Given the description of an element on the screen output the (x, y) to click on. 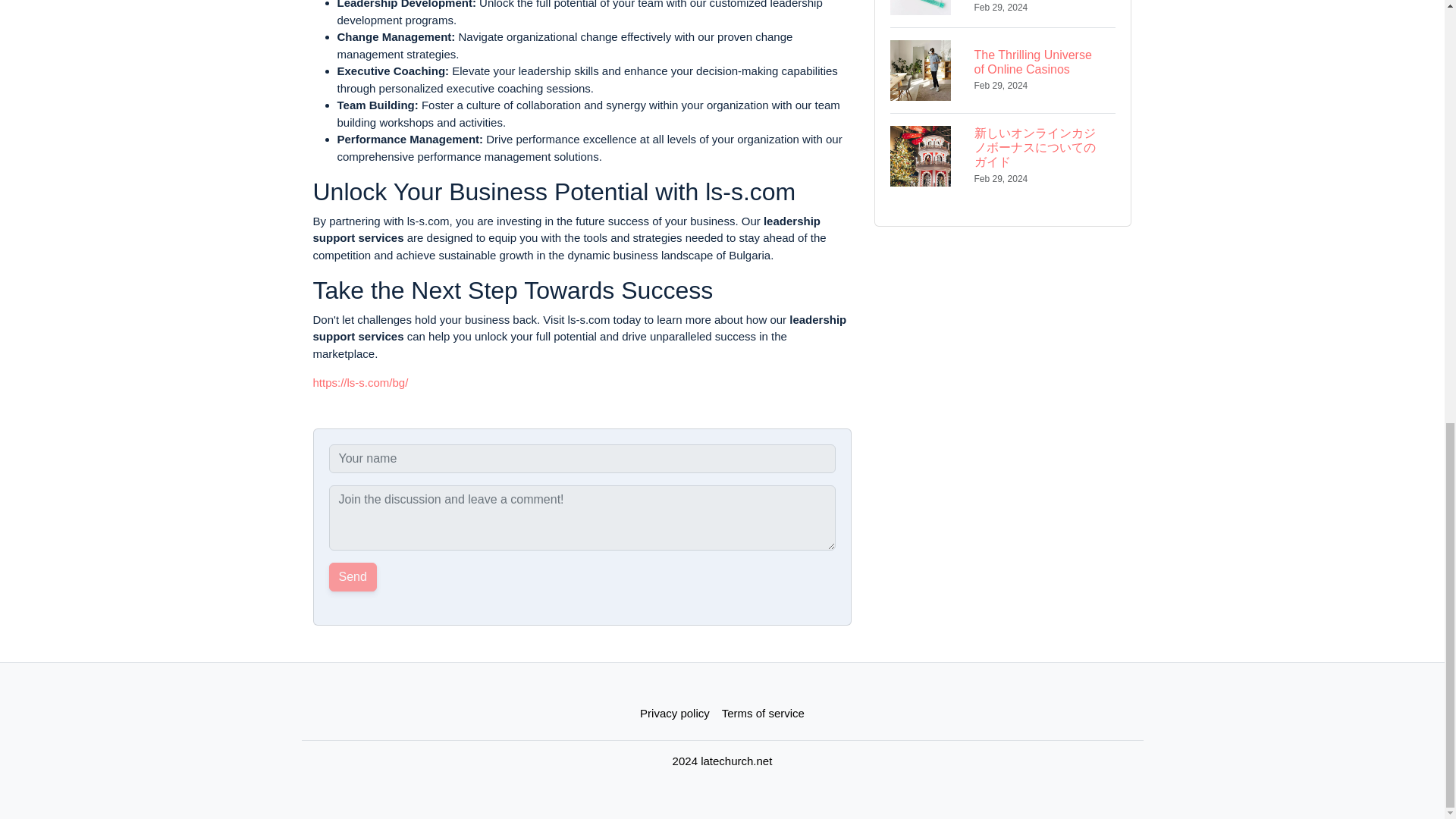
Send (353, 576)
Send (353, 576)
